Given the description of an element on the screen output the (x, y) to click on. 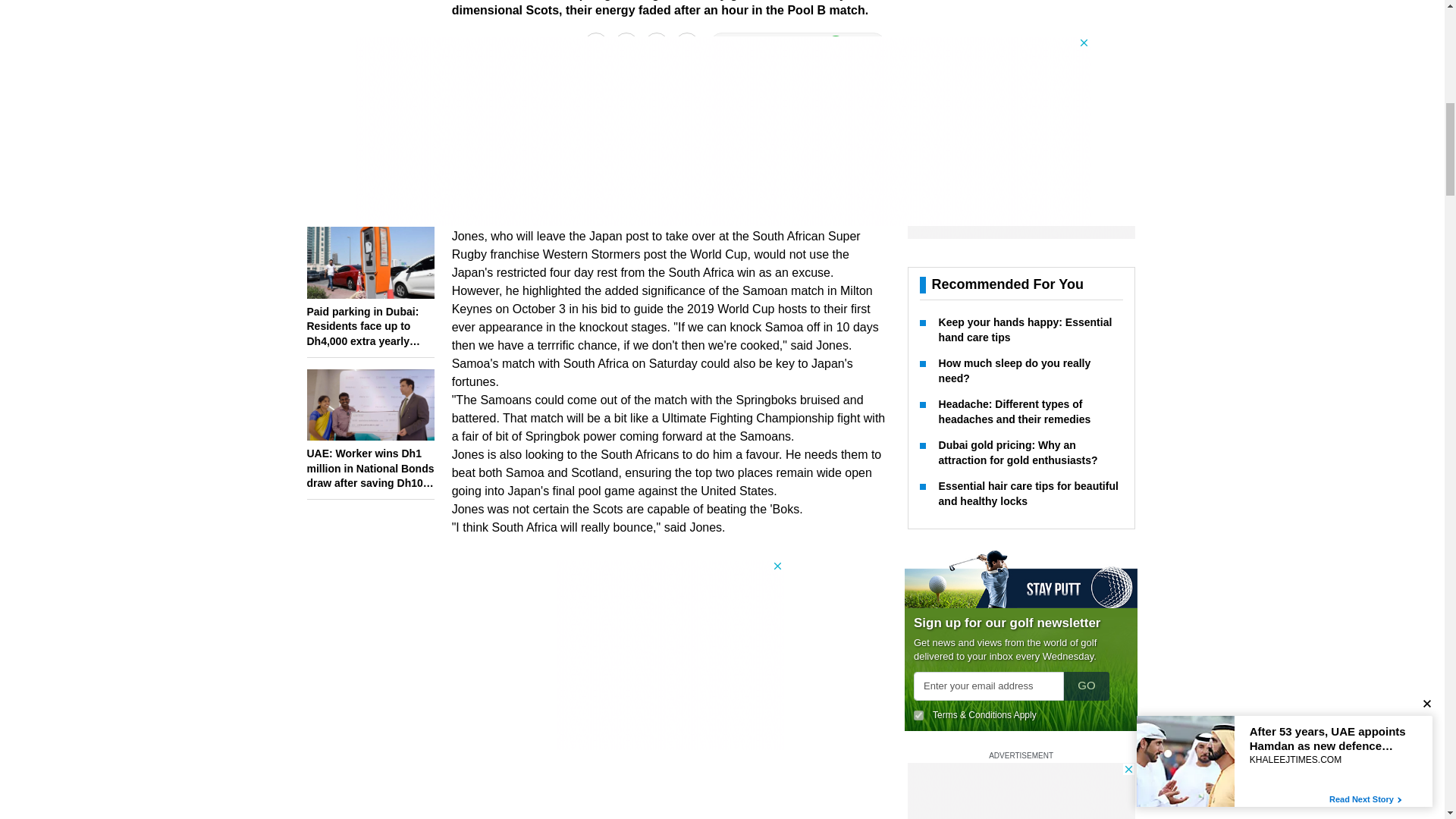
1 (918, 280)
3rd party ad content (670, 654)
